Given the description of an element on the screen output the (x, y) to click on. 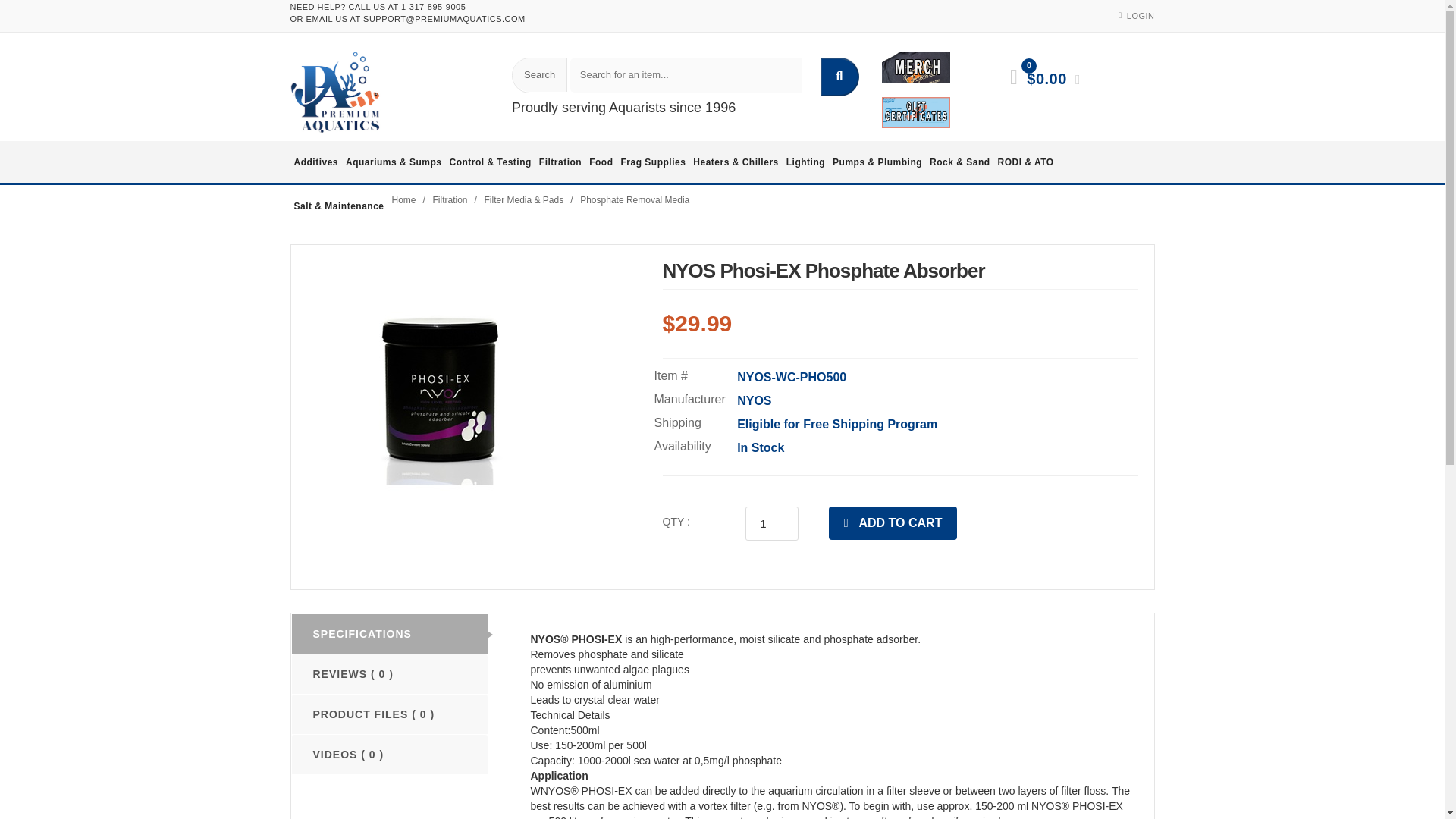
Additives (315, 162)
1 (771, 523)
Search (539, 74)
LOGIN (1140, 15)
Filtration (560, 162)
